Given the description of an element on the screen output the (x, y) to click on. 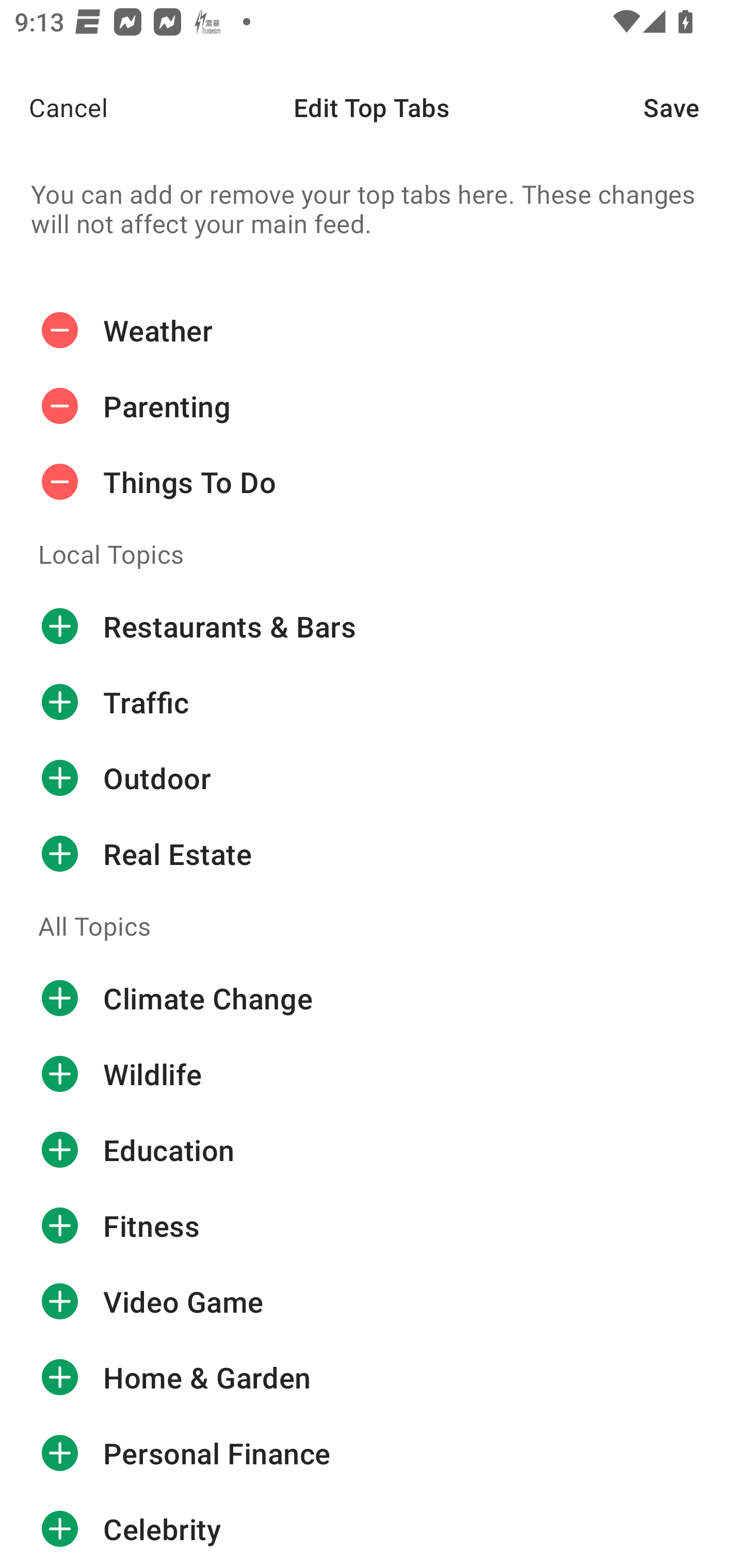
Cancel (53, 106)
Save (693, 106)
Weather (371, 331)
Parenting (371, 405)
Things To Do (371, 481)
Restaurants & Bars (371, 626)
Traffic (371, 702)
Outdoor (371, 777)
Real Estate (371, 853)
Climate Change (371, 997)
Wildlife (371, 1073)
Education (371, 1149)
Fitness (371, 1225)
Video Game (371, 1301)
Home & Garden (371, 1377)
Personal Finance (371, 1453)
Celebrity (371, 1528)
